Given the description of an element on the screen output the (x, y) to click on. 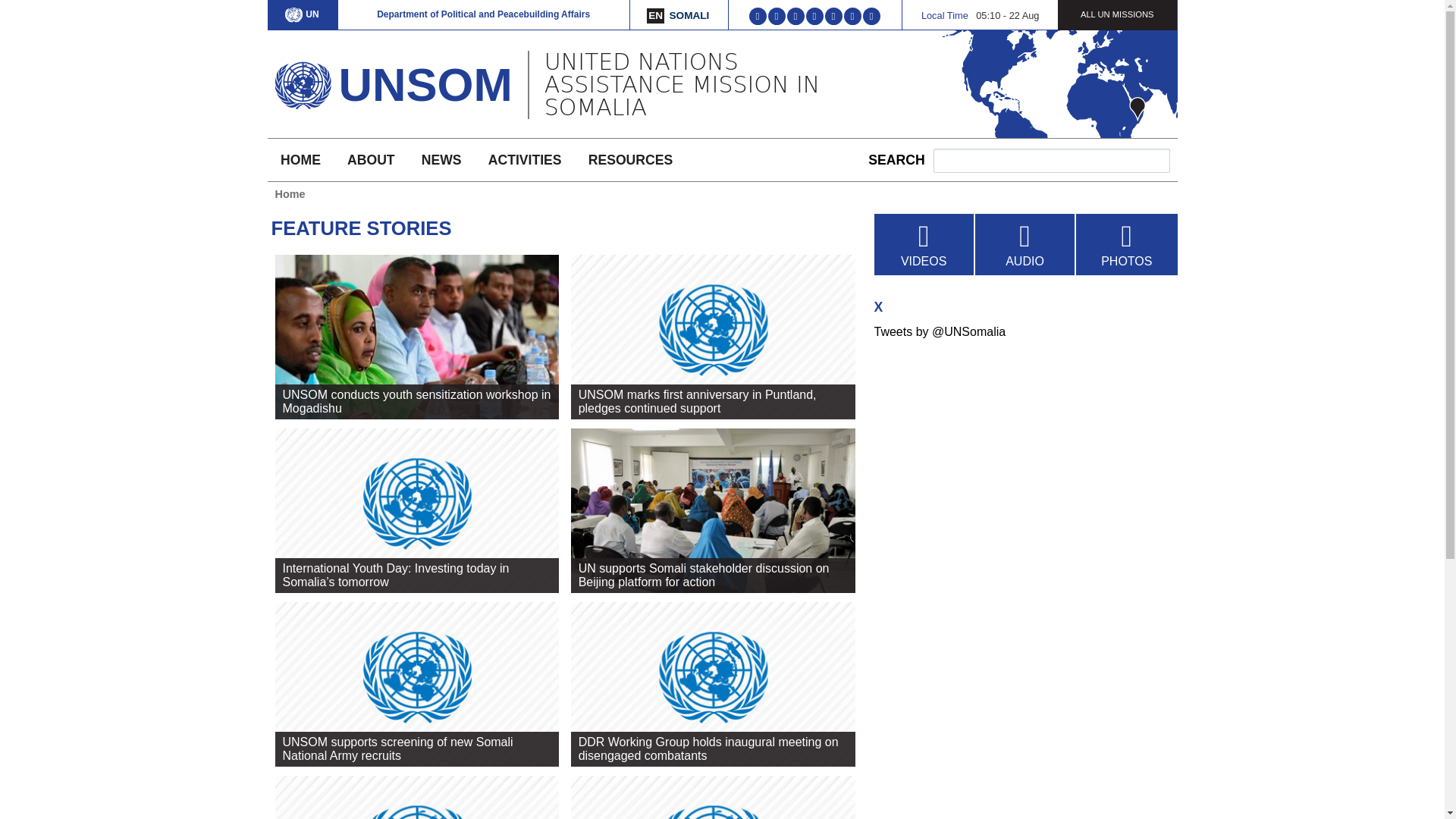
Department of Political and Peacebuilding Affairs (483, 14)
NEWS (440, 159)
Feature Stories (654, 15)
ABOUT (370, 159)
ACTIVITIES (524, 159)
ALL UN MISSIONS (1117, 13)
Warar xul ah (688, 15)
HOME (299, 159)
Enter the terms you wish to search for. (1051, 160)
EN (654, 15)
